Given the description of an element on the screen output the (x, y) to click on. 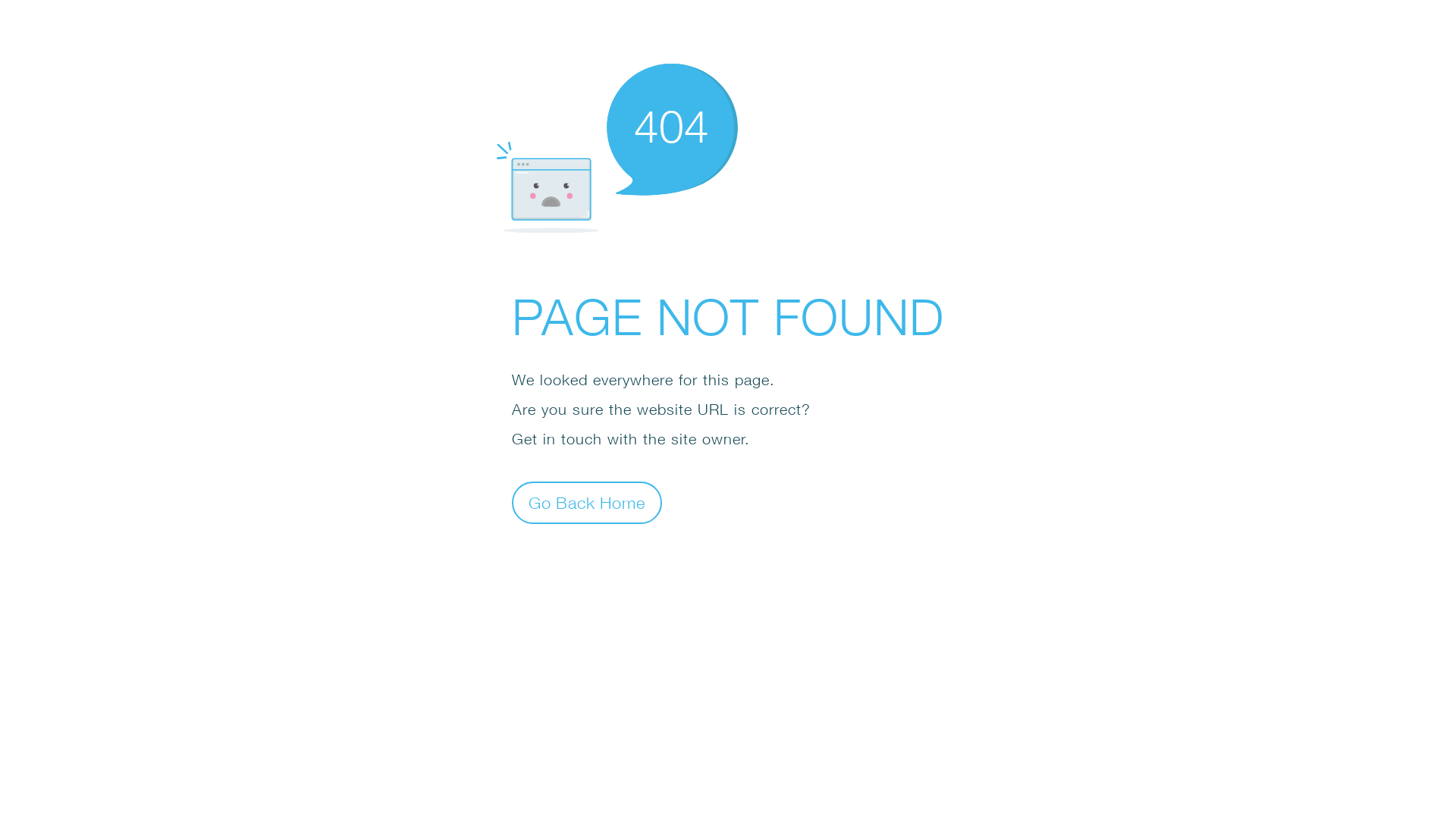
Go Back Home Element type: text (586, 502)
